Given the description of an element on the screen output the (x, y) to click on. 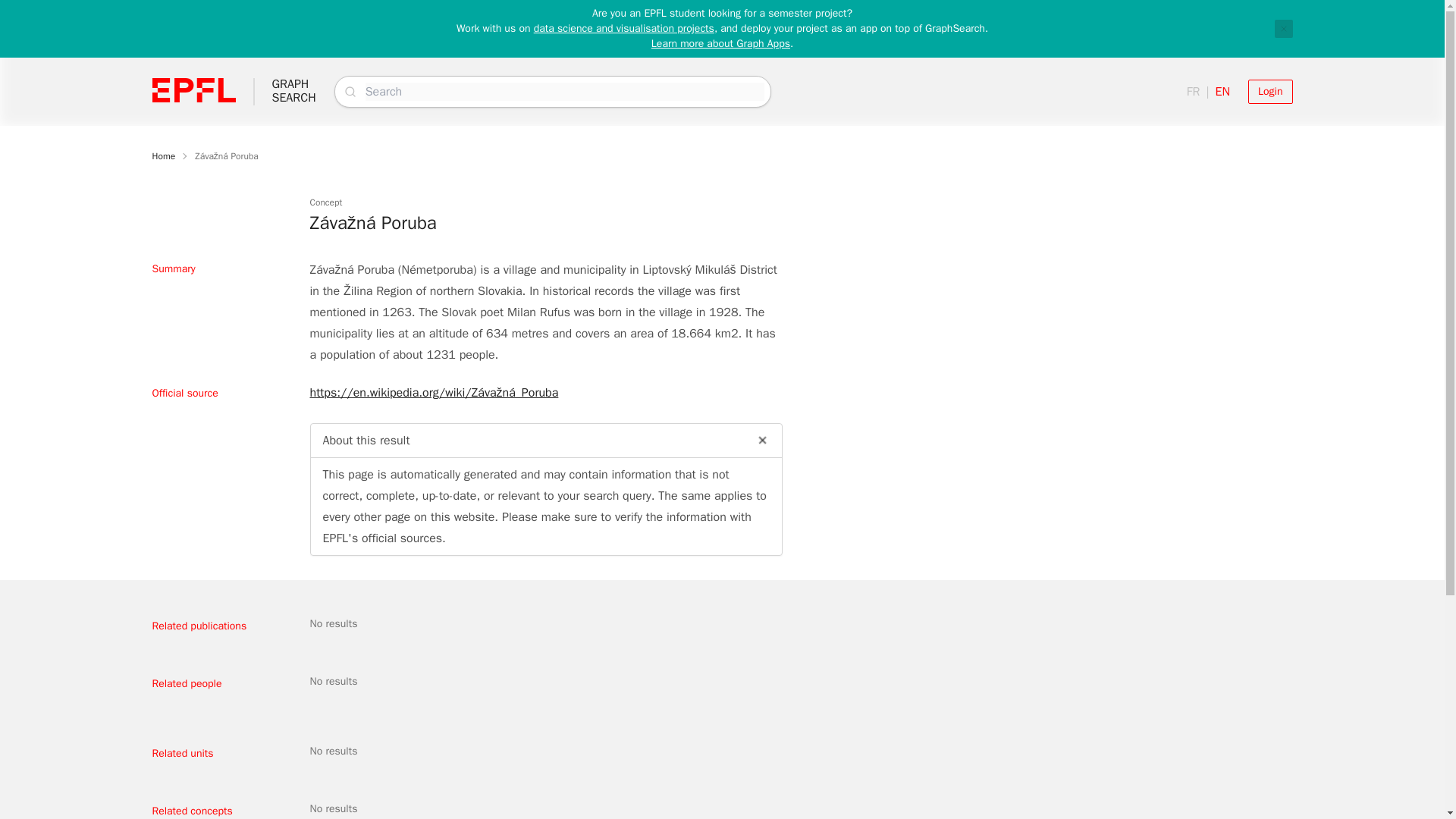
Close notification (1283, 28)
Login (292, 90)
Learn more about Graph Apps (1269, 91)
Home (720, 42)
data science and visualisation projects (162, 155)
